Given the description of an element on the screen output the (x, y) to click on. 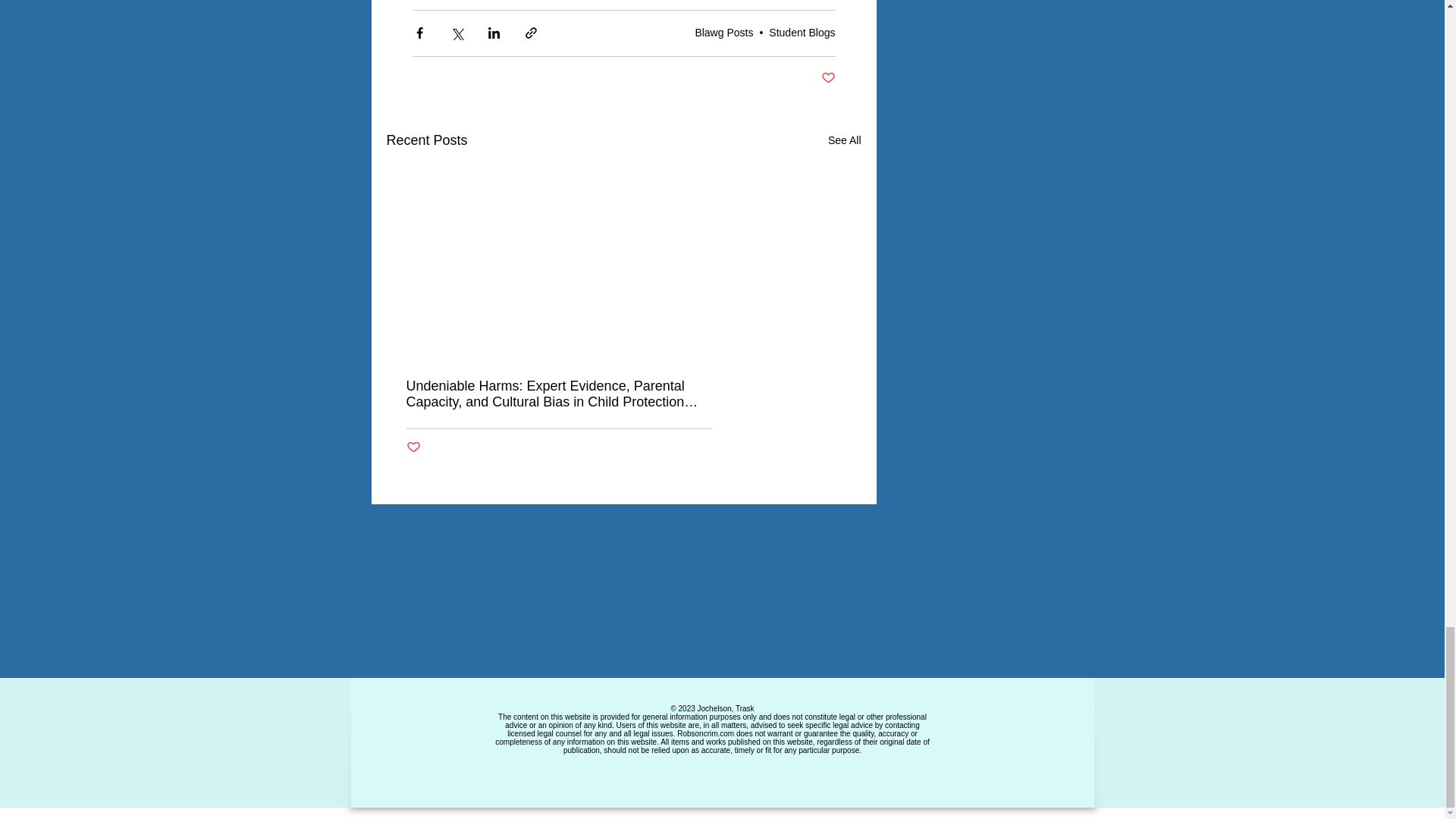
Post not marked as liked (827, 78)
See All (844, 140)
Post not marked as liked (413, 447)
Student Blogs (801, 32)
Blawg Posts (723, 32)
